Given the description of an element on the screen output the (x, y) to click on. 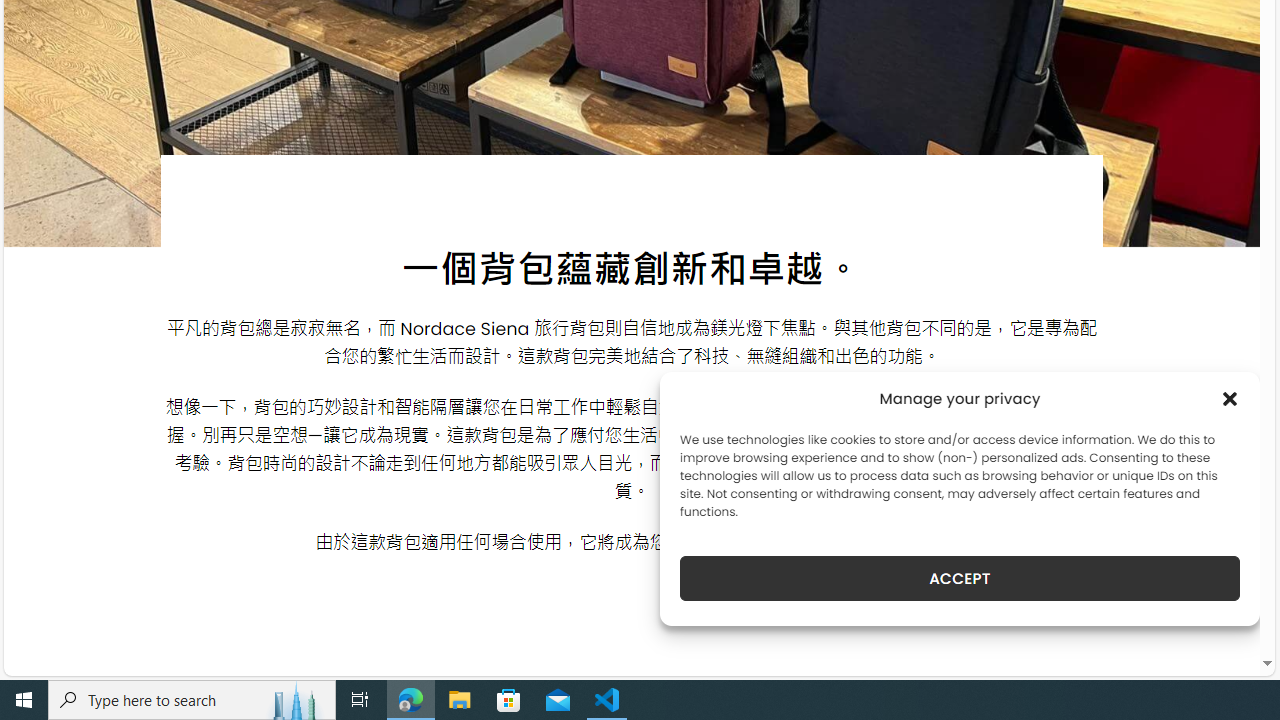
Class: cmplz-close (1229, 398)
ACCEPT (959, 578)
